Given the description of an element on the screen output the (x, y) to click on. 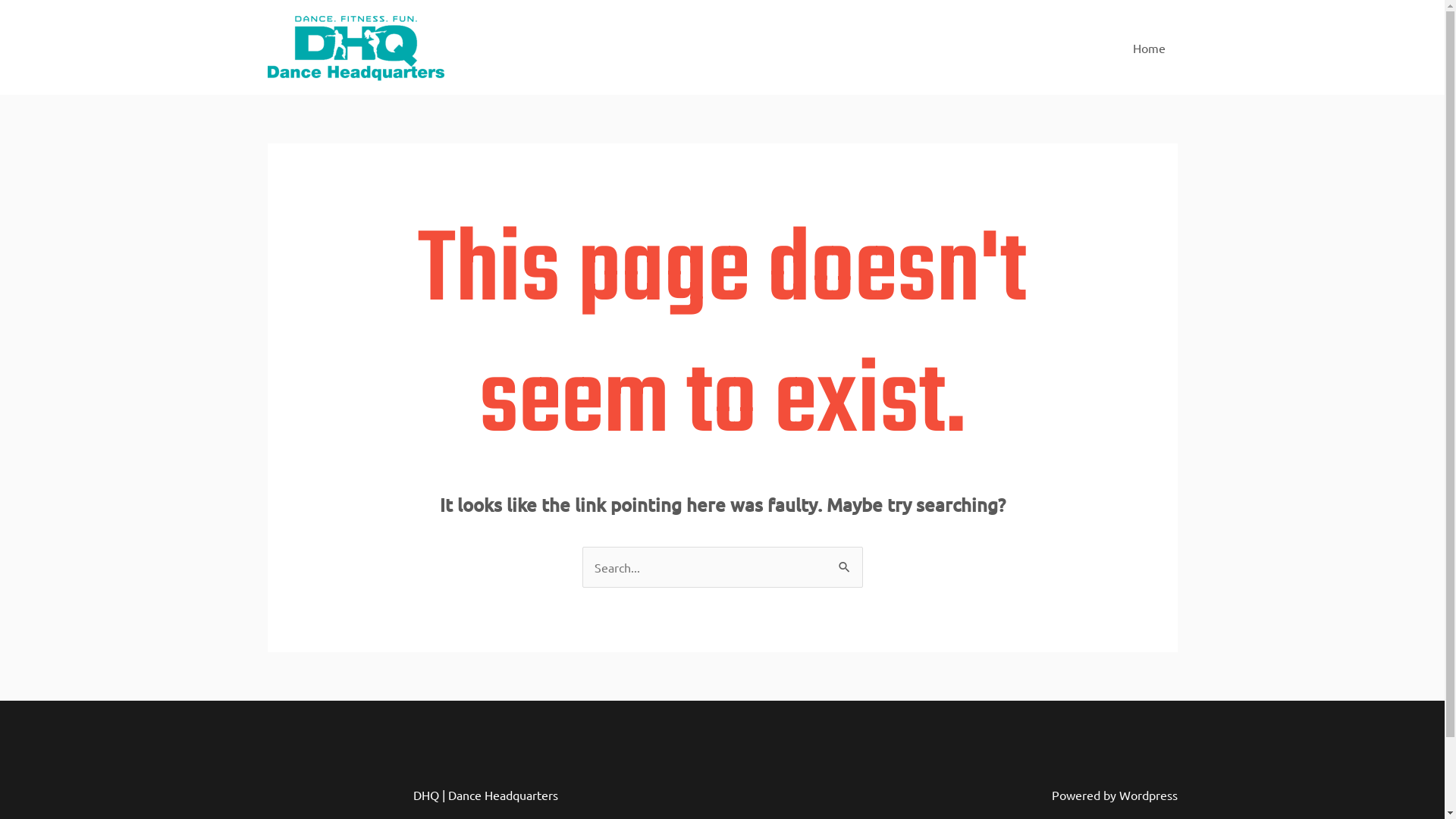
Search Element type: text (845, 561)
Home Element type: text (1148, 47)
